Given the description of an element on the screen output the (x, y) to click on. 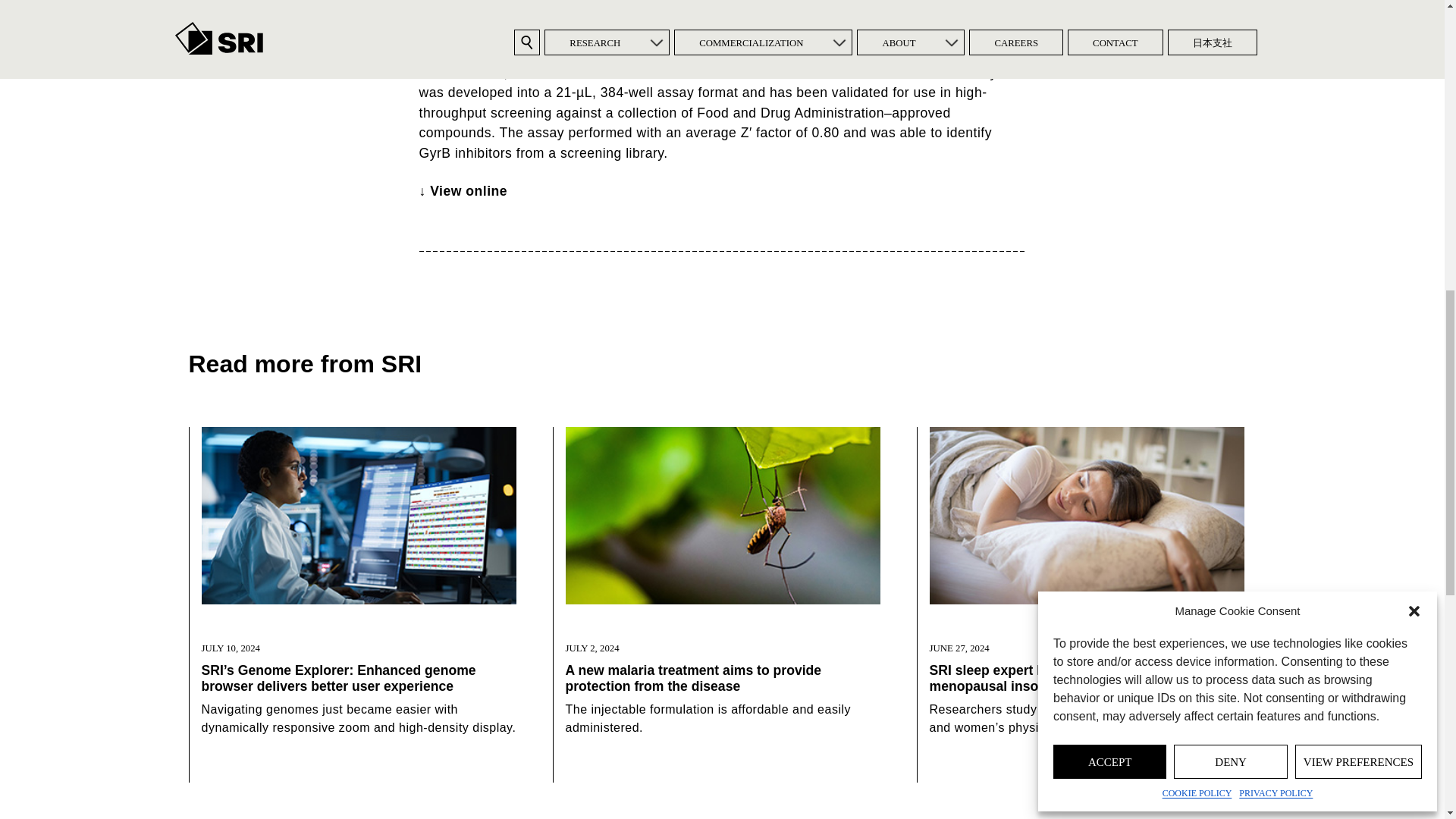
ACCEPT (1109, 14)
VIEW PREFERENCES (1358, 14)
PRIVACY POLICY (1276, 43)
DENY (1230, 14)
COOKIE POLICY (1196, 43)
